Given the description of an element on the screen output the (x, y) to click on. 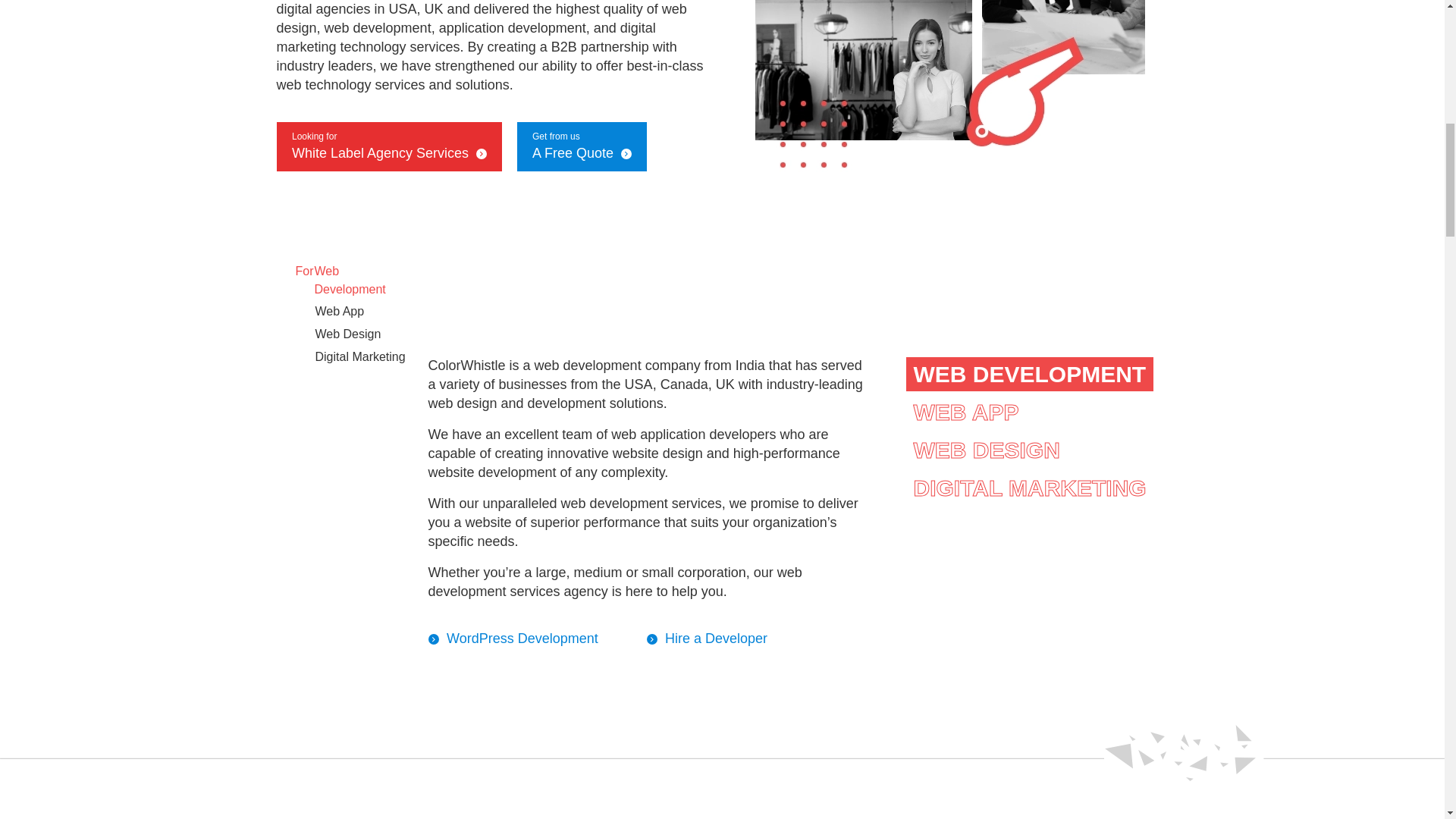
Web Development Agency India B2B White Label - ColorWhistle (949, 87)
A Free Quote (621, 153)
WordPress Development (436, 638)
Hire a Developer (654, 638)
White Label Agency Services (477, 153)
